Given the description of an element on the screen output the (x, y) to click on. 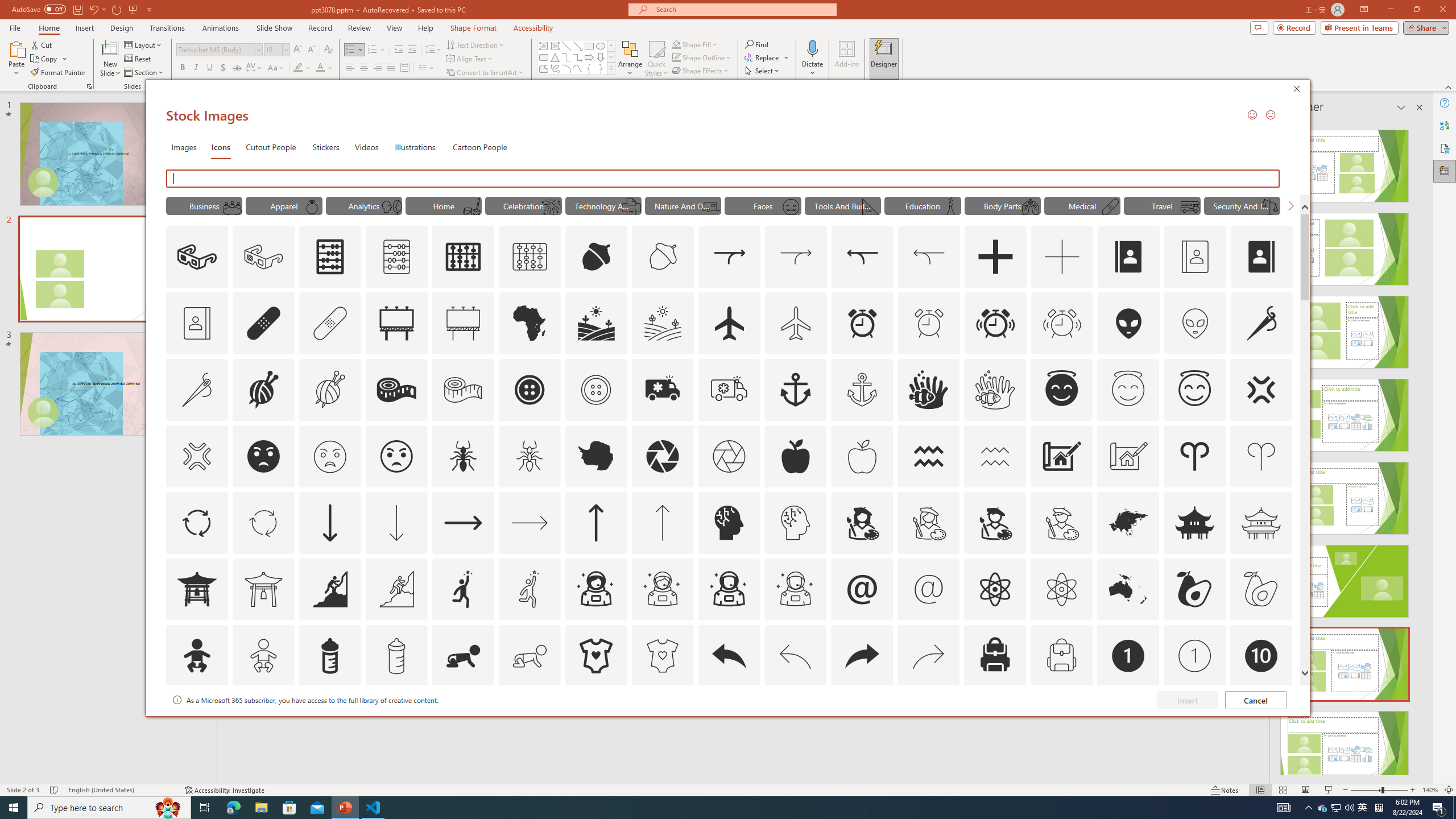
AutomationID: Icons_Abacus_M (397, 256)
AutomationID: Icons_Reflection_M (391, 206)
Increase Font Size (297, 49)
AutomationID: Icons_Ambulance_M (729, 389)
Rectangle: Rounded Corners (543, 57)
AutomationID: Icons_AngryFace_M (329, 455)
AutomationID: Icons_Australia (1128, 588)
AutomationID: Icons_AlarmRinging_M (1062, 323)
AutomationID: Icons_Aspiration (329, 588)
